Given the description of an element on the screen output the (x, y) to click on. 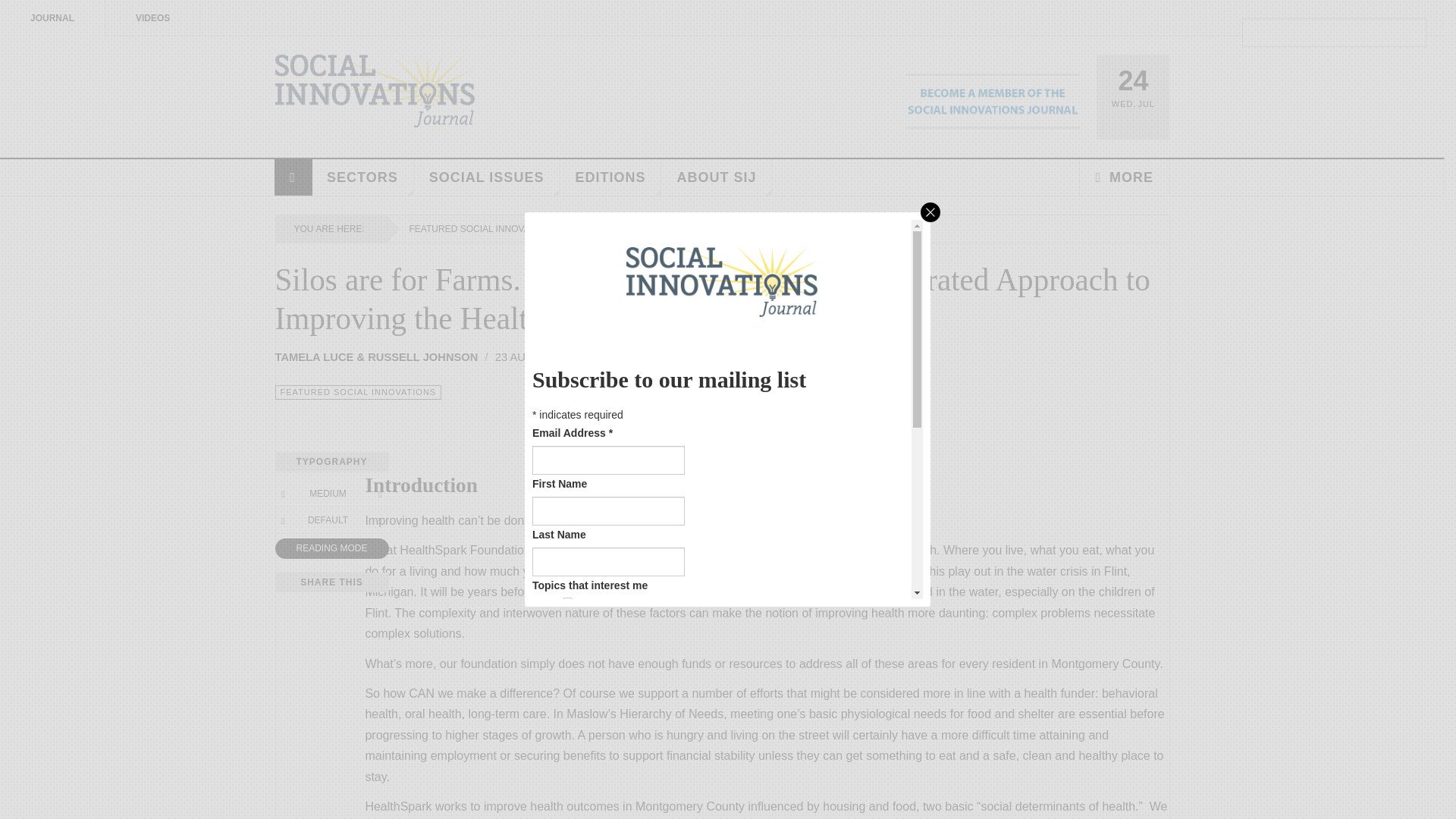
512 (567, 800)
128 (567, 756)
8 (567, 668)
4 (567, 646)
16 (567, 690)
64 (567, 734)
32 (567, 712)
1 (567, 602)
Social Innovation Journal (374, 90)
2 (567, 624)
256 (567, 777)
